Given the description of an element on the screen output the (x, y) to click on. 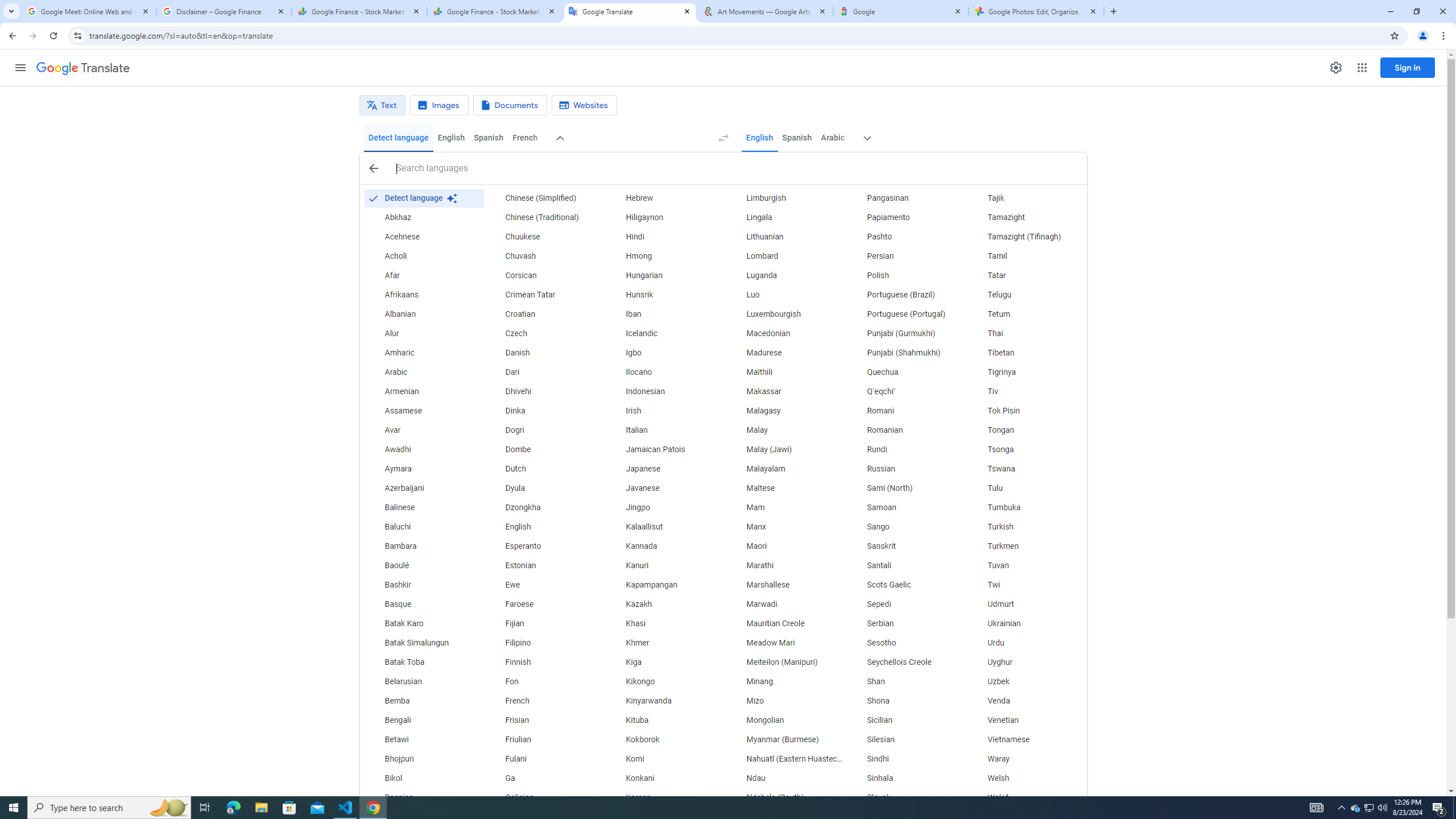
Sepedi (905, 604)
Maori (785, 546)
Konkani (665, 778)
Seychellois Creole (905, 662)
Awadhi (423, 449)
Uzbek (1026, 682)
Alur (423, 334)
Tetum (1026, 314)
Silesian (905, 739)
Luganda (785, 275)
Punjabi (Shahmukhi) (905, 352)
Faroese (544, 604)
